Given the description of an element on the screen output the (x, y) to click on. 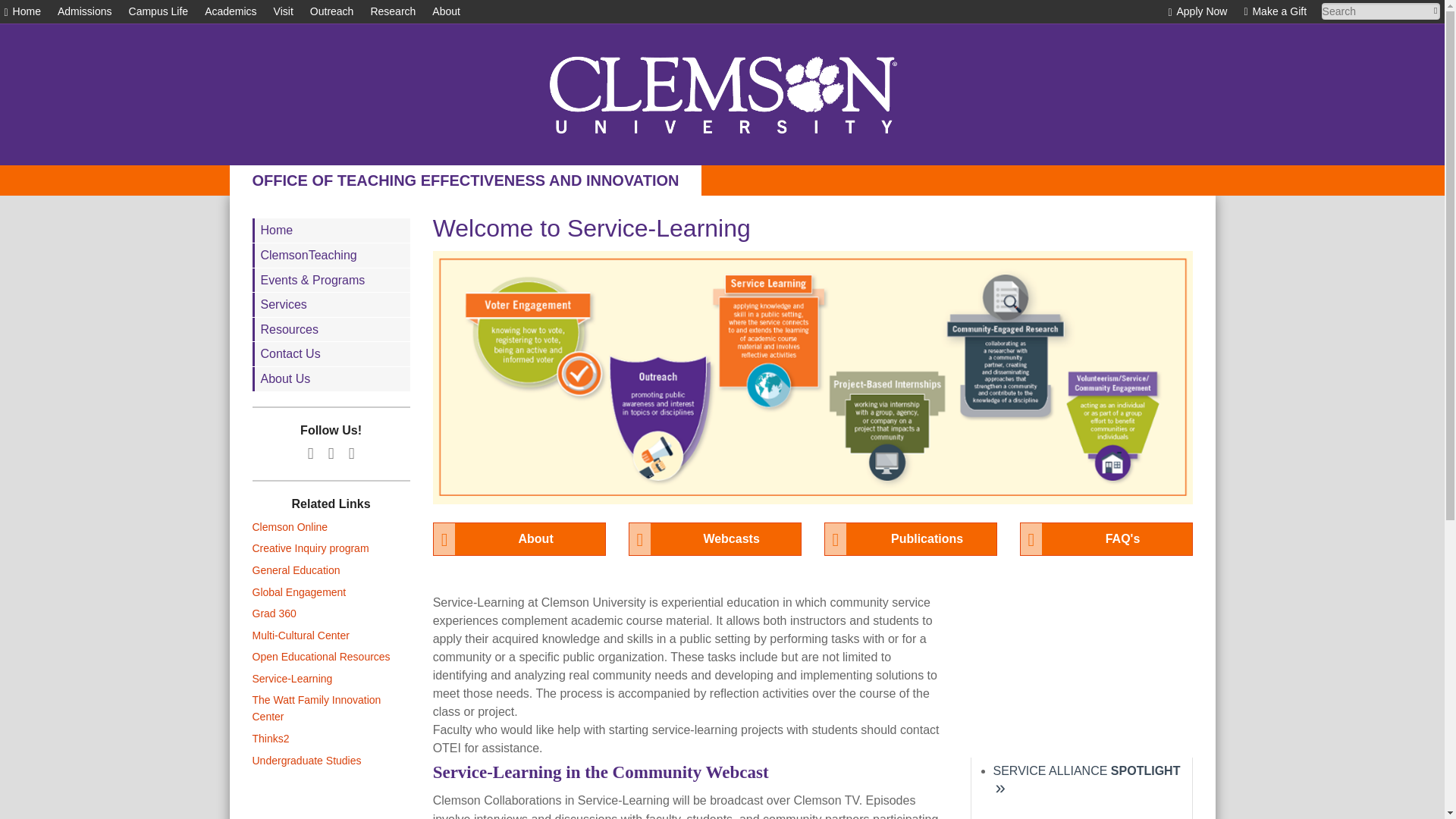
Admissions (85, 11)
Apply Now (1197, 11)
Make a Gift (1274, 11)
Outreach (331, 11)
About (446, 11)
Academics (230, 11)
FAQ's (1106, 539)
Memory Health, Caring for Self, Caring for Others (1086, 780)
Webcasts (715, 539)
